Given the description of an element on the screen output the (x, y) to click on. 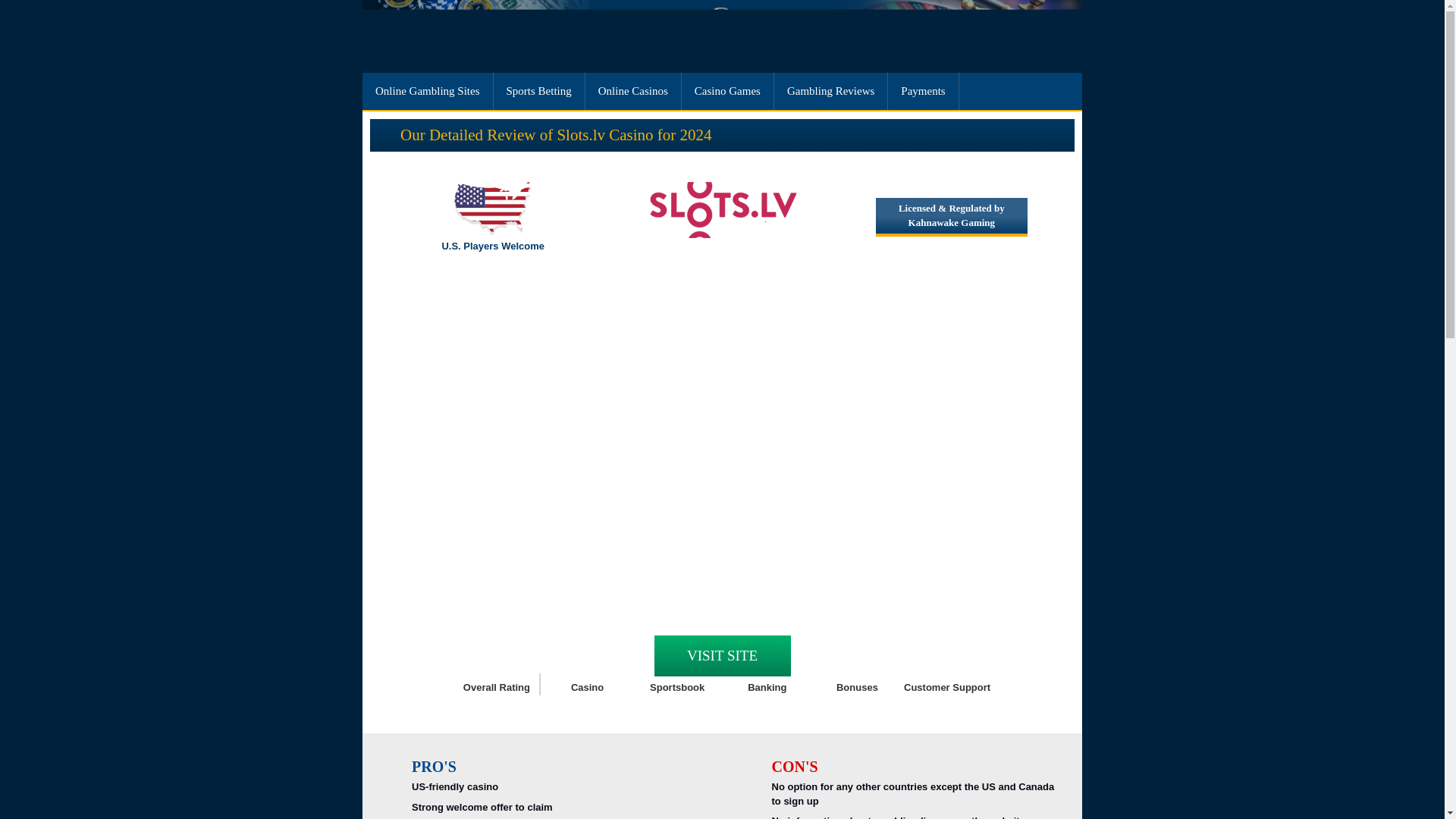
Sports Betting (539, 90)
Gambling Reviews (831, 90)
Online Gambling Sites (427, 90)
Payments (923, 90)
Casino Games (727, 90)
Online Casinos (633, 90)
